Given the description of an element on the screen output the (x, y) to click on. 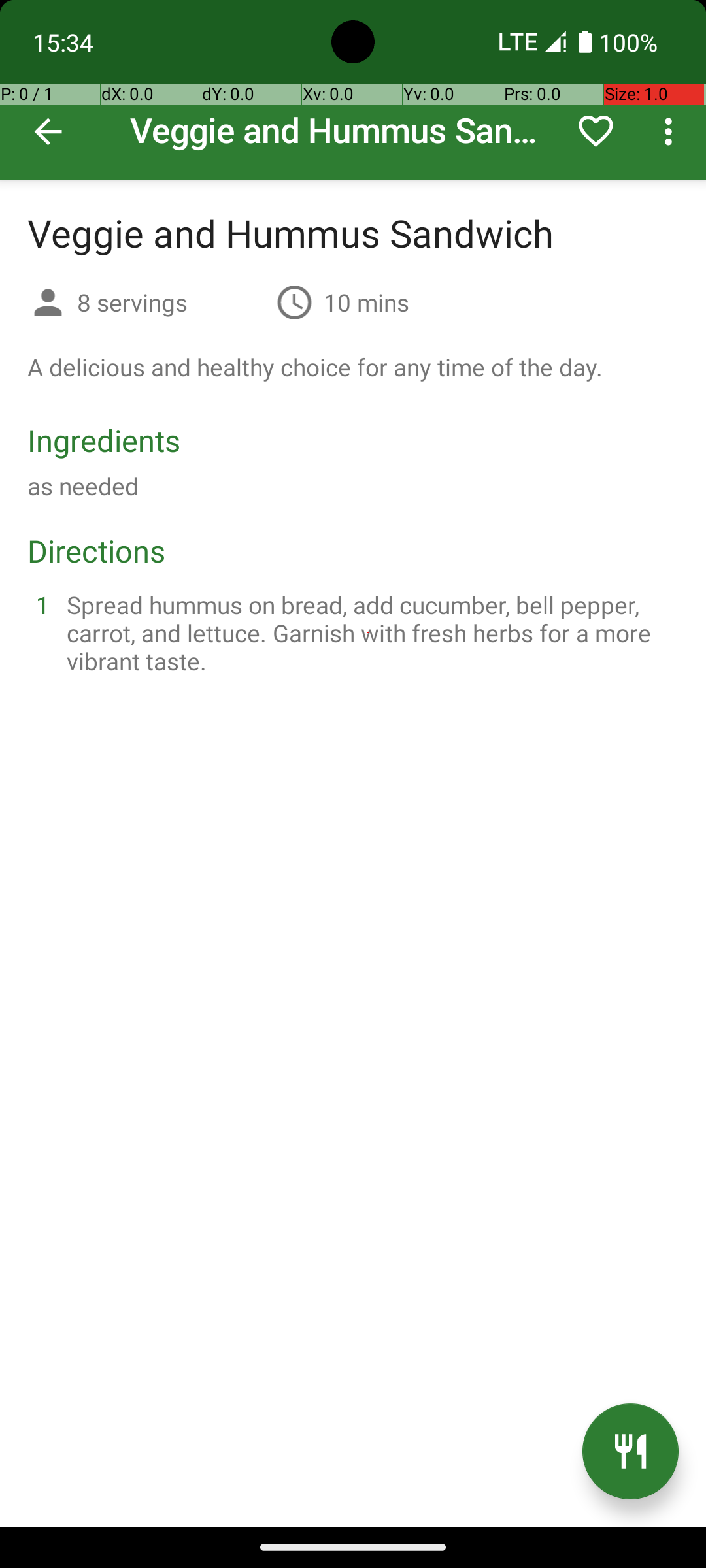
Veggie and Hummus Sandwich Element type: android.widget.FrameLayout (353, 89)
Spread hummus on bread, add cucumber, bell pepper, carrot, and lettuce. Garnish with fresh herbs for a more vibrant taste. Element type: android.widget.TextView (368, 632)
